Given the description of an element on the screen output the (x, y) to click on. 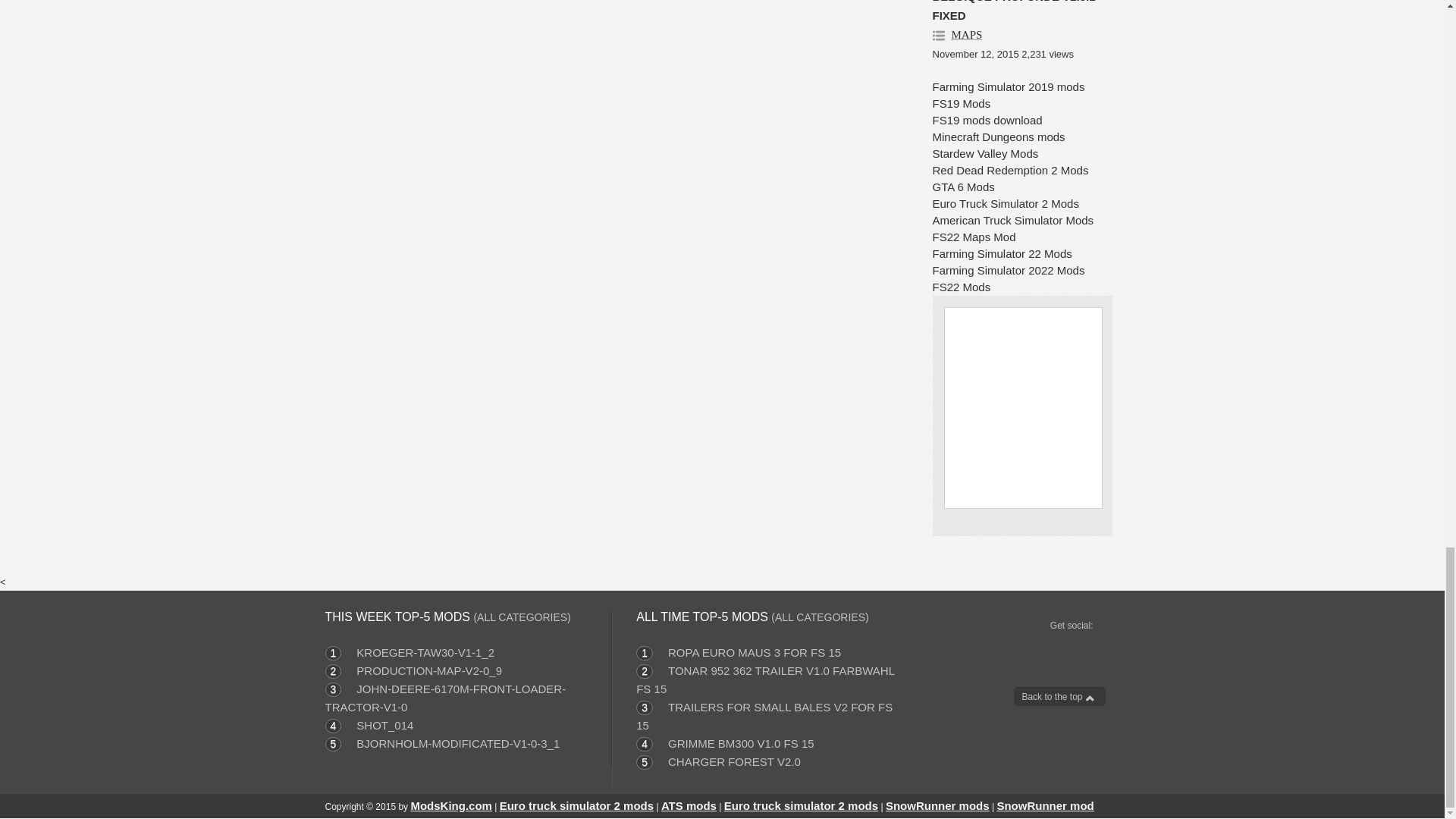
BELGIQUE PROFONDE V2.5.1 FIXED (1014, 11)
